Given the description of an element on the screen output the (x, y) to click on. 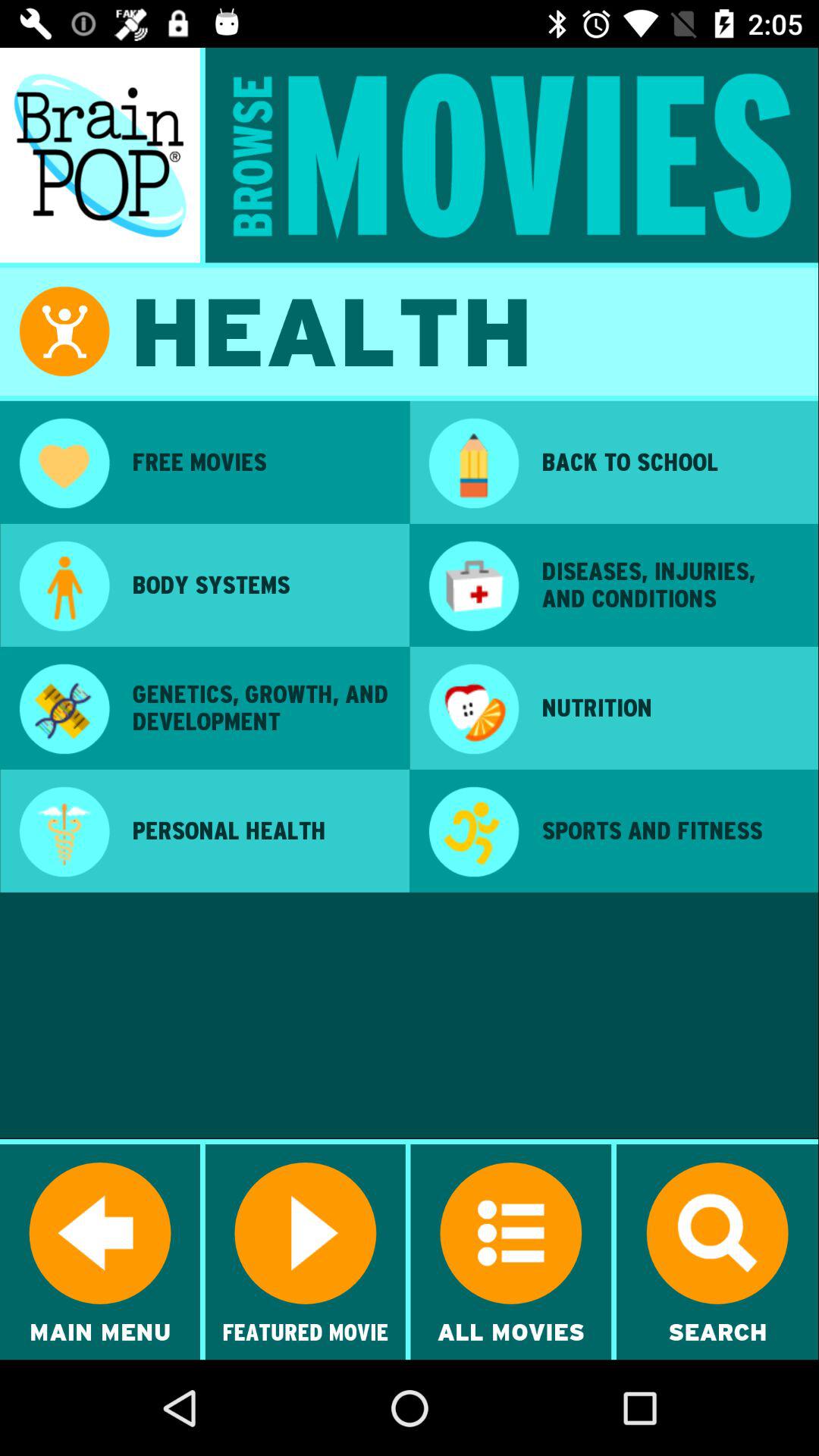
turn off app next to the diseases injuries and app (473, 587)
